Given the description of an element on the screen output the (x, y) to click on. 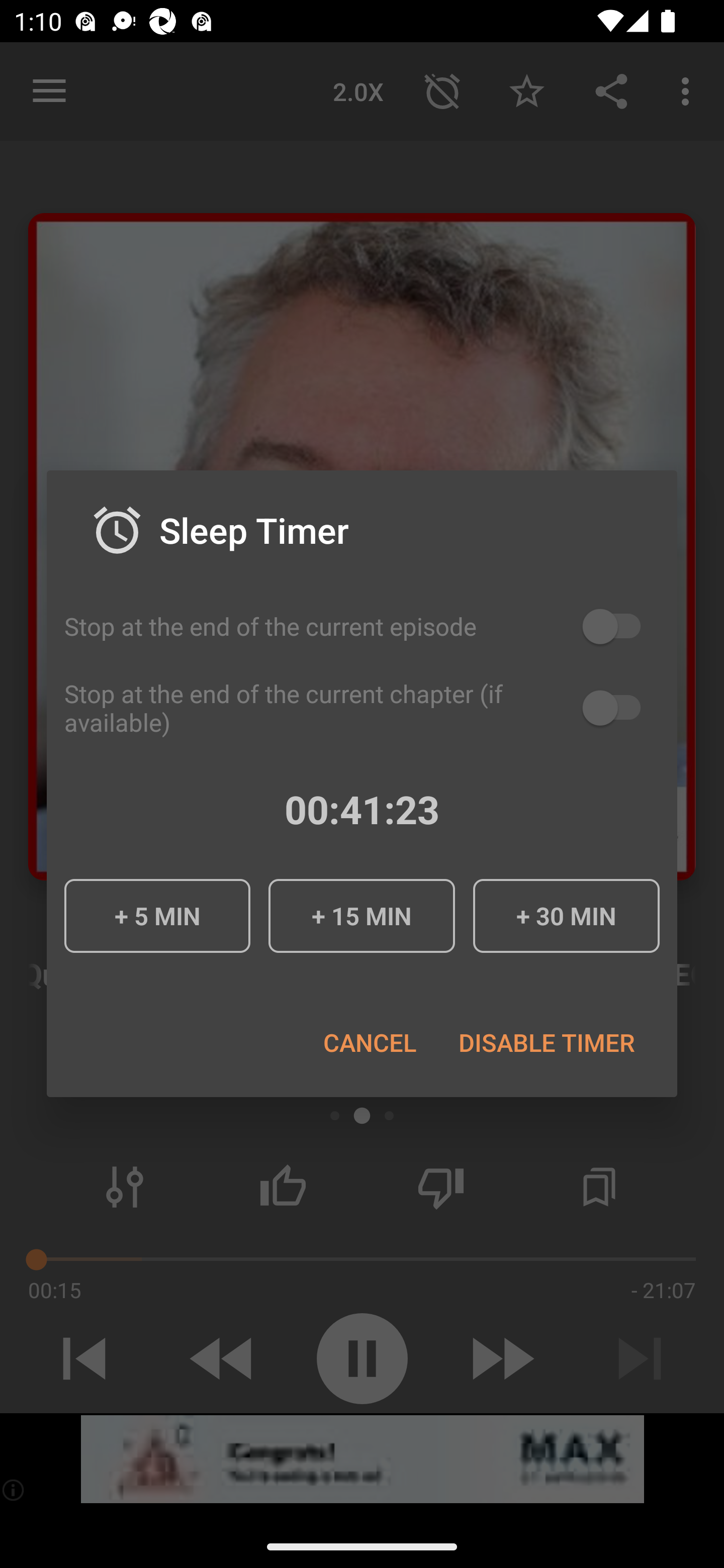
Stop at the end of the current episode (361, 626)
+ 5 MIN (157, 916)
+ 15 MIN (361, 916)
+ 30 MIN (565, 916)
CANCEL (369, 1042)
DISABLE TIMER (546, 1042)
